Given the description of an element on the screen output the (x, y) to click on. 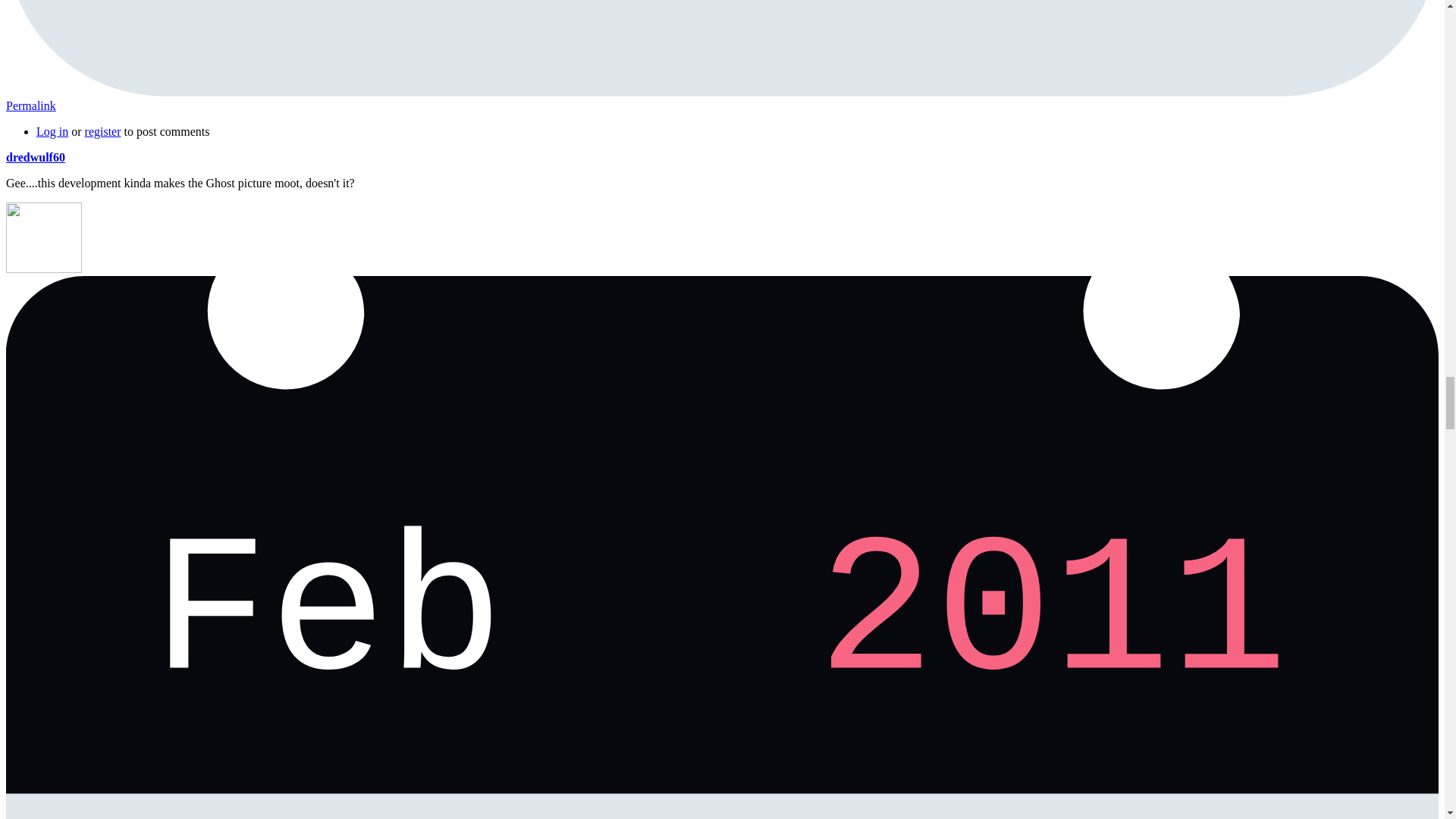
Log in (52, 131)
View user profile. (35, 156)
register (102, 131)
Permalink (30, 105)
dredwulf60 (35, 156)
